Given the description of an element on the screen output the (x, y) to click on. 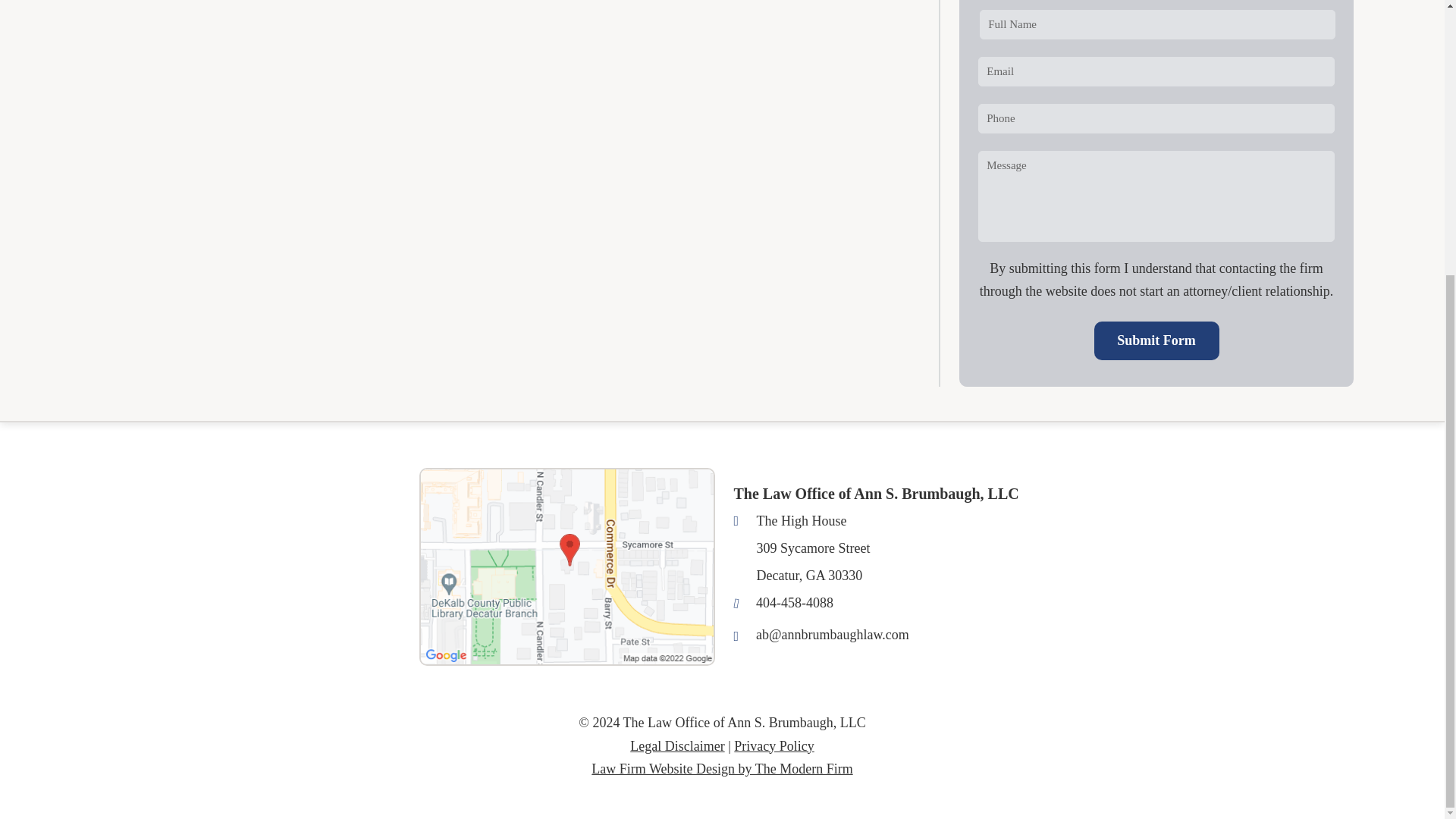
Legal Disclaimer (676, 745)
Disclaimer (676, 745)
404-458-4088 (793, 602)
Submit Form (1155, 340)
Law Firm Website Design (721, 768)
Email (831, 634)
Click to view this map on Google Maps (566, 566)
Submit Form (1155, 340)
